Given the description of an element on the screen output the (x, y) to click on. 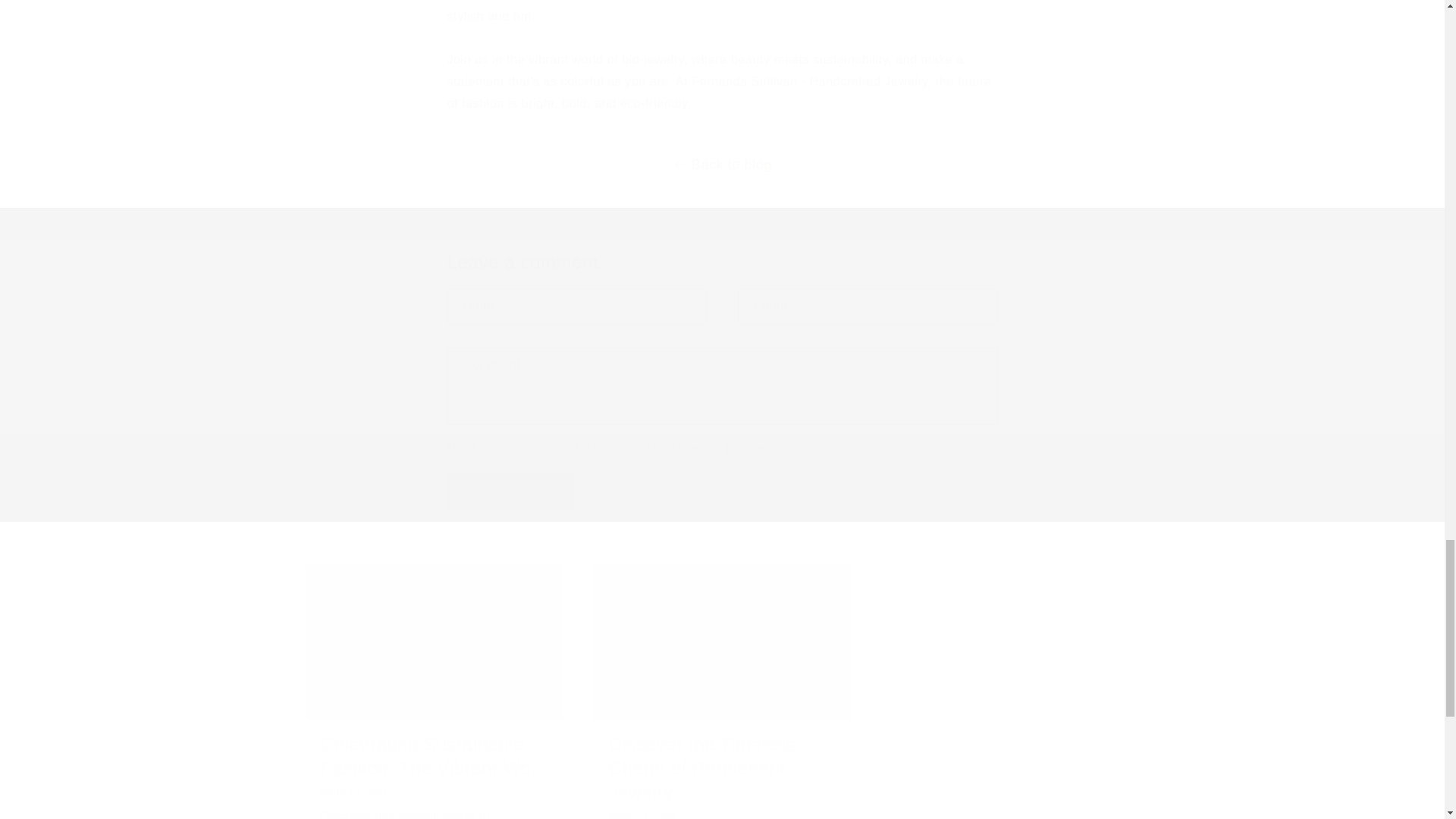
Post comment (510, 491)
